Given the description of an element on the screen output the (x, y) to click on. 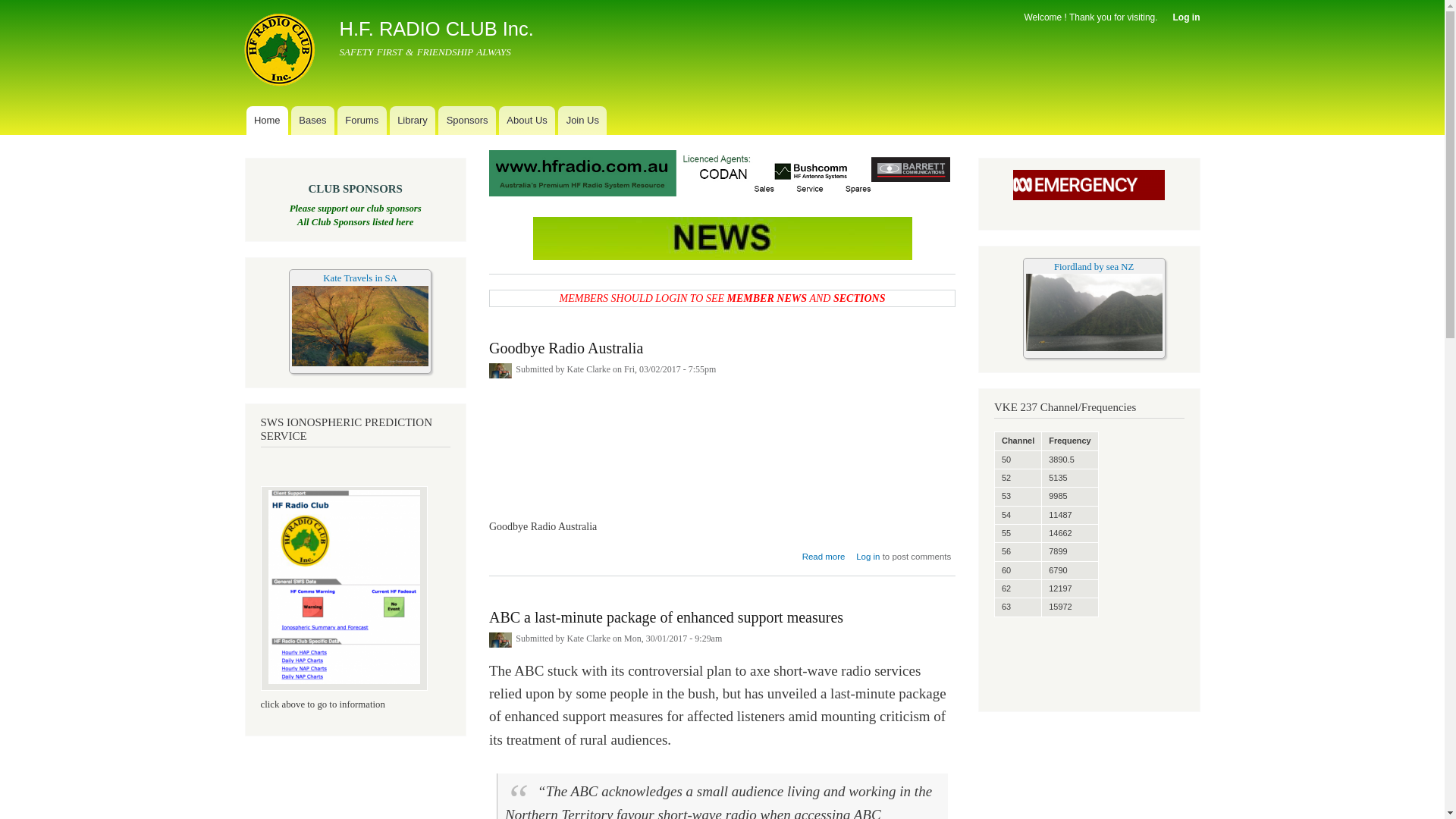
On the way down Horlicks pass Element type: hover (359, 362)
Kate Clarke's picture Element type: hover (500, 370)
Log in Element type: text (867, 551)
Kate Travels in SA Element type: text (360, 278)
Home Element type: text (266, 120)
Goodbye Radio Australia Element type: text (566, 341)
Fiordland by sea NZ Element type: text (1093, 265)
Log in Element type: text (1186, 17)
Home Element type: hover (280, 51)
About Us Element type: text (526, 120)
Bases Element type: text (312, 120)
Library Element type: text (412, 120)
Join Us Element type: text (582, 120)
H.F. RADIO CLUB Inc. Element type: text (436, 28)
Forums Element type: text (361, 120)
CLUB SPONSORS Element type: text (355, 188)
Read more
about Goodbye Radio Australia Element type: text (823, 551)
ABC a last-minute package of enhanced support measures Element type: text (666, 610)
Milford Sound 7 Element type: hover (1094, 311)
Skip to main content Element type: text (690, 1)
Kate Clarke's picture Element type: hover (500, 639)
Flinders Ranges Element type: hover (359, 325)
Sponsors Element type: text (466, 120)
